Given the description of an element on the screen output the (x, y) to click on. 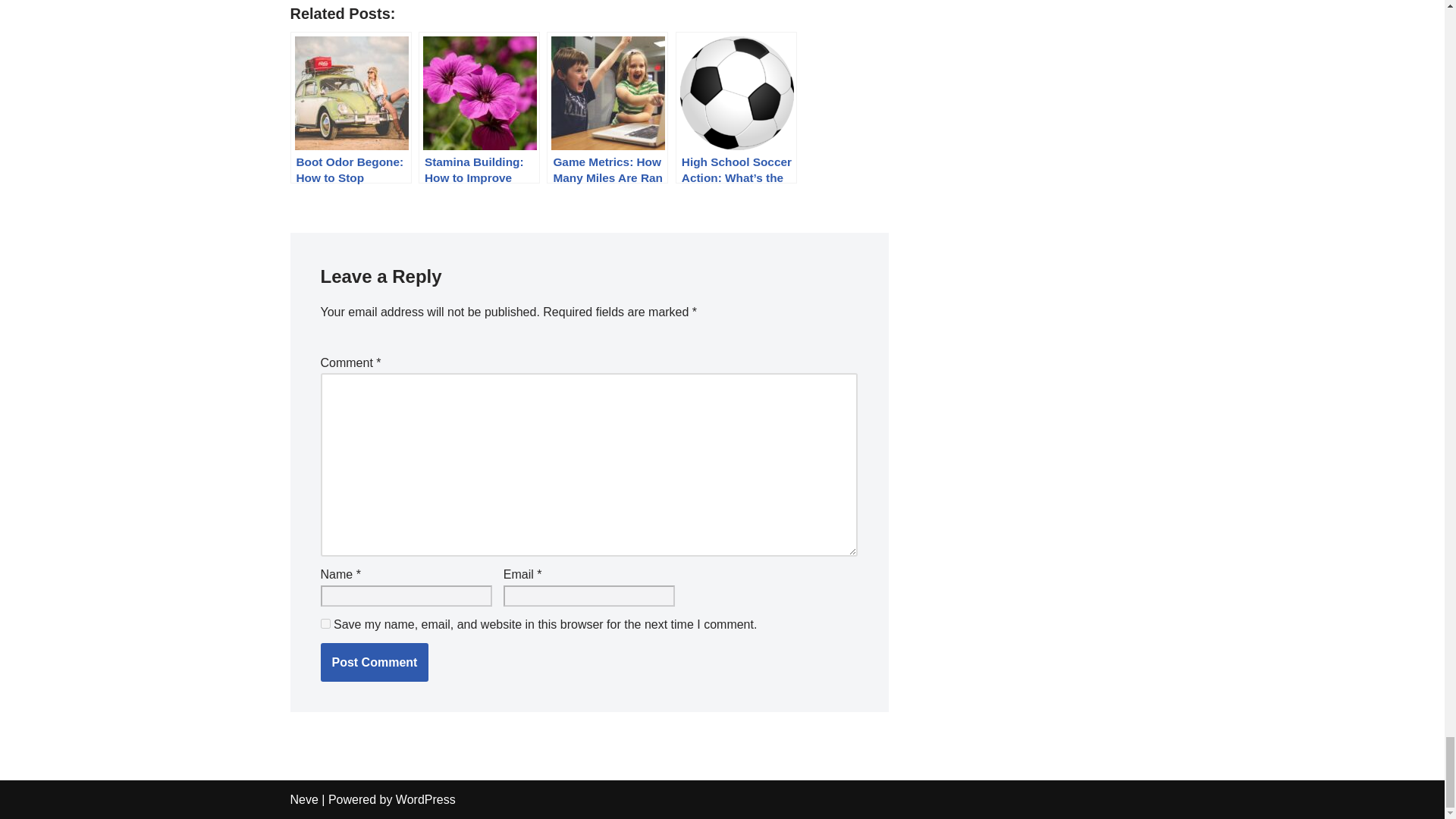
Post Comment (374, 662)
Post Comment (374, 662)
yes (325, 623)
